Given the description of an element on the screen output the (x, y) to click on. 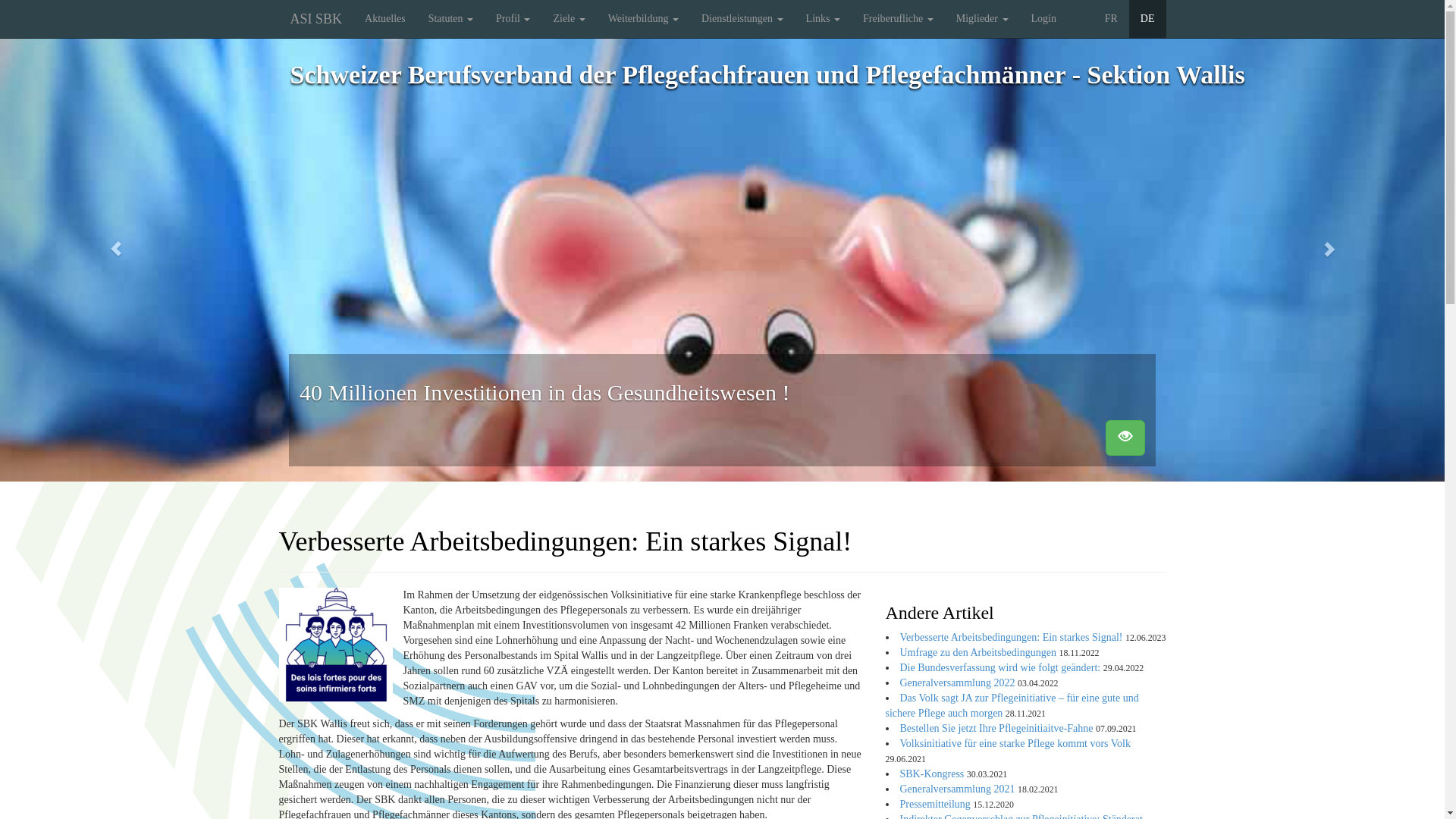
Freiberufliche Element type: text (897, 18)
Statuten Element type: text (450, 18)
DE Element type: text (1147, 18)
Weiterbildung Element type: text (643, 18)
Generalversammlung 2022 Element type: text (956, 682)
SBK-Kongress Element type: text (931, 773)
Aktuelles Element type: text (385, 18)
Login Element type: text (1042, 18)
Verbesserte Arbeitsbedingungen: Ein starkes Signal! Element type: text (1011, 637)
Bestellen Sie jetzt Ihre Pflegeinitiaitve-Fahne Element type: text (995, 728)
FR Element type: text (1111, 18)
Pressemitteilung Element type: text (934, 803)
Dienstleistungen Element type: text (742, 18)
Ziele Element type: text (568, 18)
Miglieder Element type: text (981, 18)
Profil Element type: text (512, 18)
Umfrage zu den Arbeitsbedingungen Element type: text (977, 652)
Generalversammlung 2021 Element type: text (956, 788)
Links Element type: text (822, 18)
ASI SBK Element type: text (316, 18)
